Given the description of an element on the screen output the (x, y) to click on. 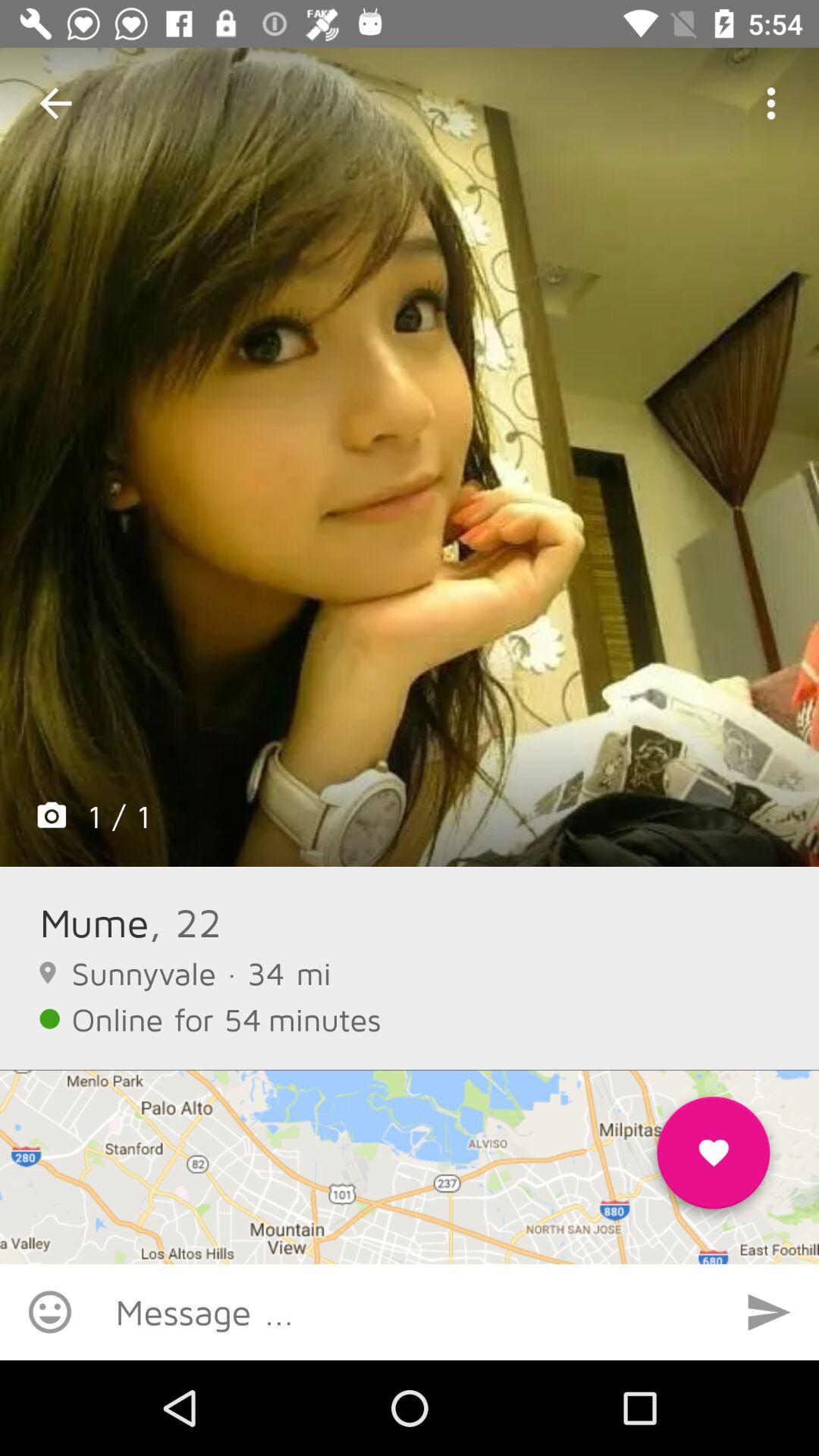
open full-size image (409, 456)
